Given the description of an element on the screen output the (x, y) to click on. 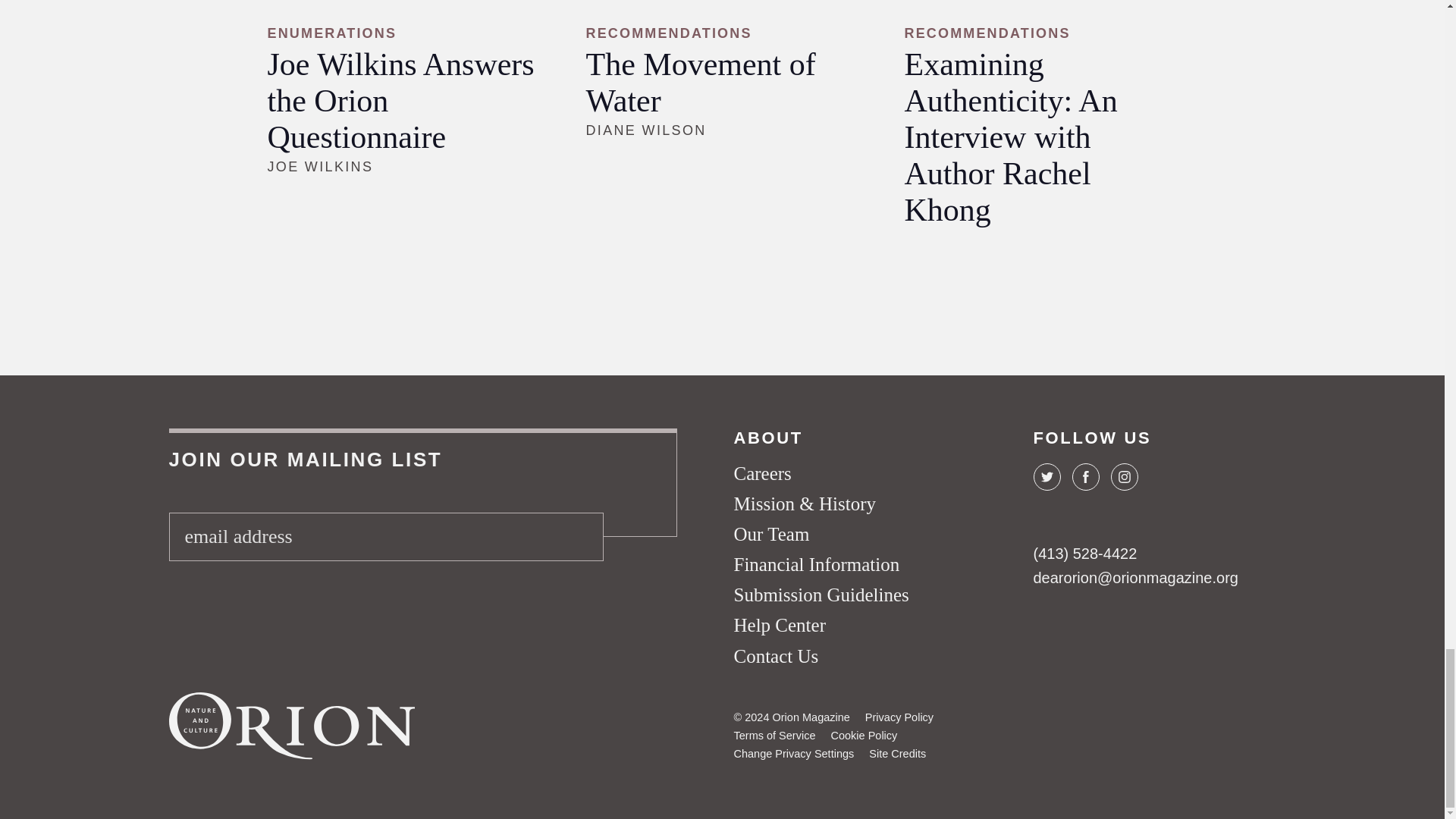
On Twitter (1045, 476)
On Instagram (1123, 476)
On Facebook (1085, 476)
